Given the description of an element on the screen output the (x, y) to click on. 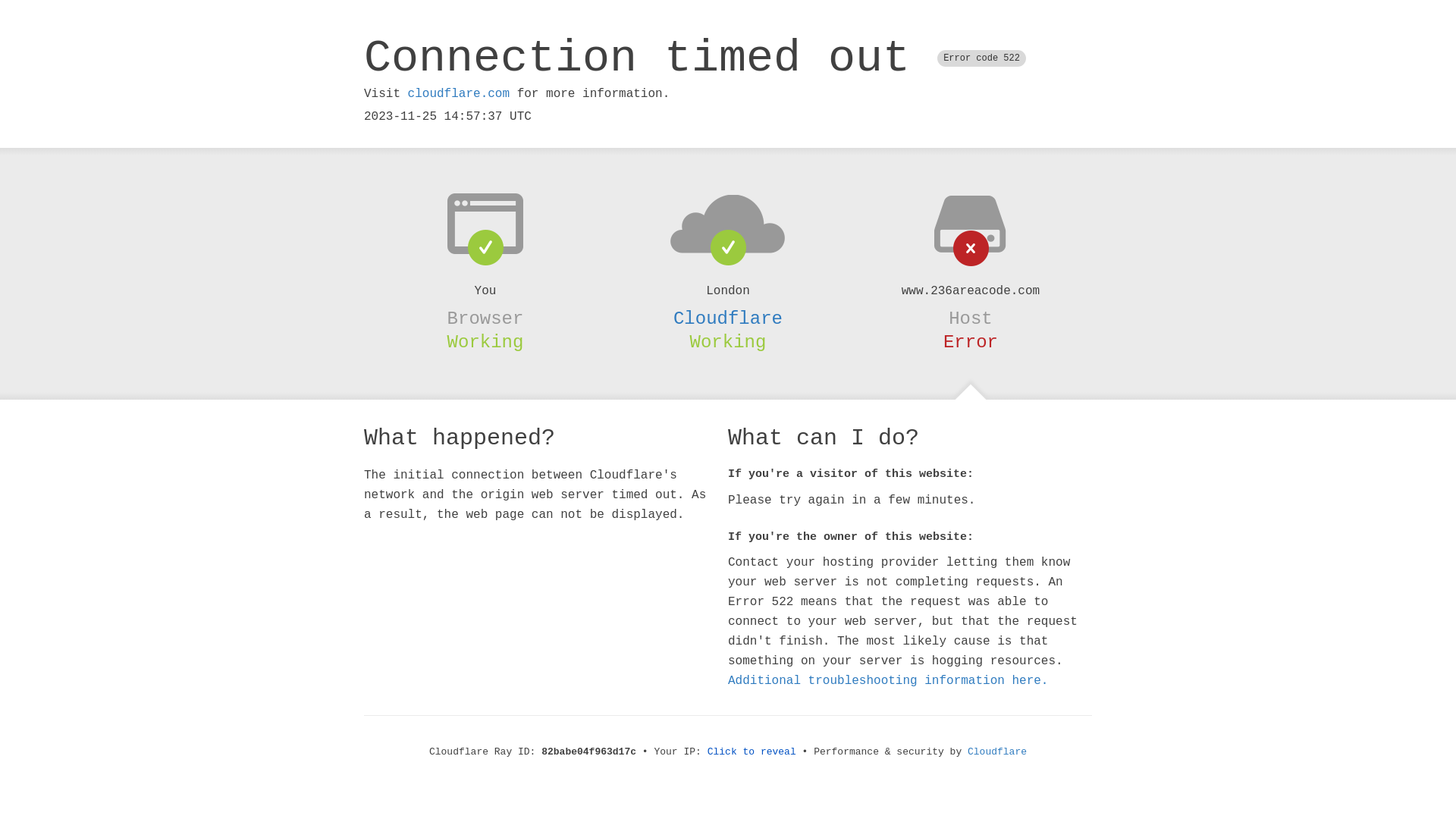
Additional troubleshooting information here. Element type: text (888, 680)
Cloudflare Element type: text (727, 318)
cloudflare.com Element type: text (458, 93)
Click to reveal Element type: text (751, 751)
Cloudflare Element type: text (996, 751)
